Given the description of an element on the screen output the (x, y) to click on. 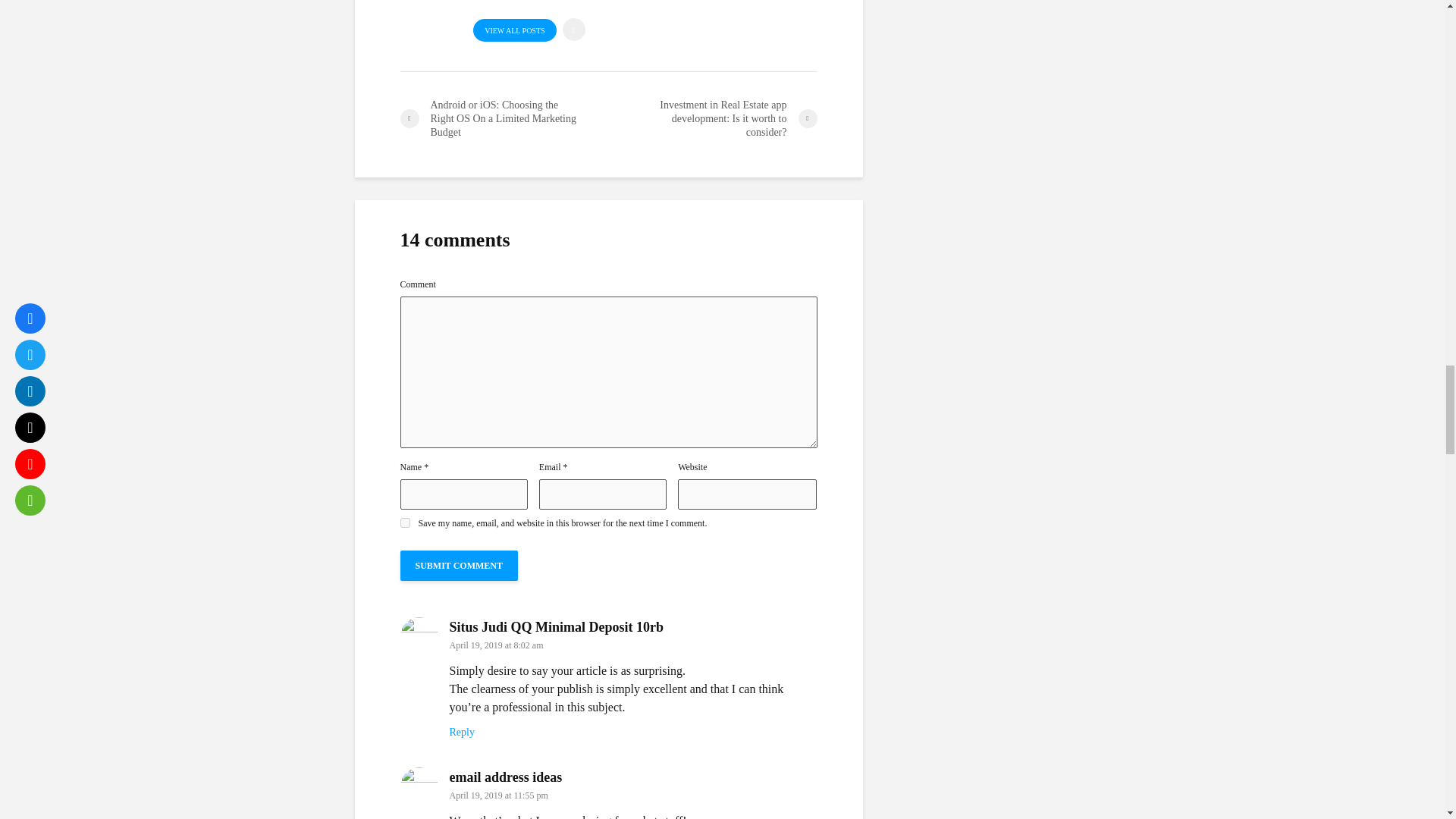
Submit Comment (459, 565)
yes (405, 522)
